Given the description of an element on the screen output the (x, y) to click on. 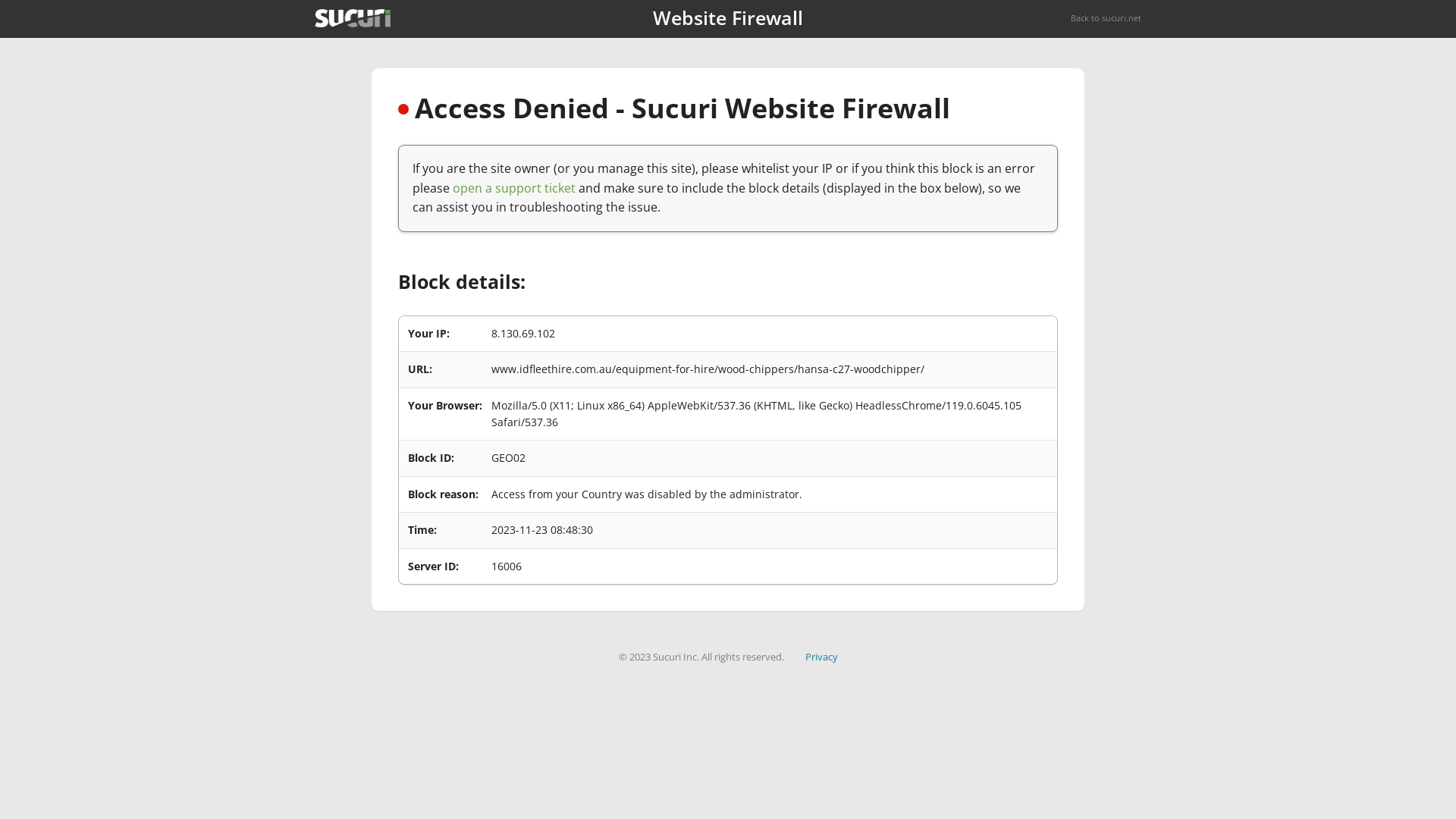
Privacy Element type: text (821, 656)
open a support ticket Element type: text (513, 187)
Back to sucuri.net Element type: text (1105, 18)
